Given the description of an element on the screen output the (x, y) to click on. 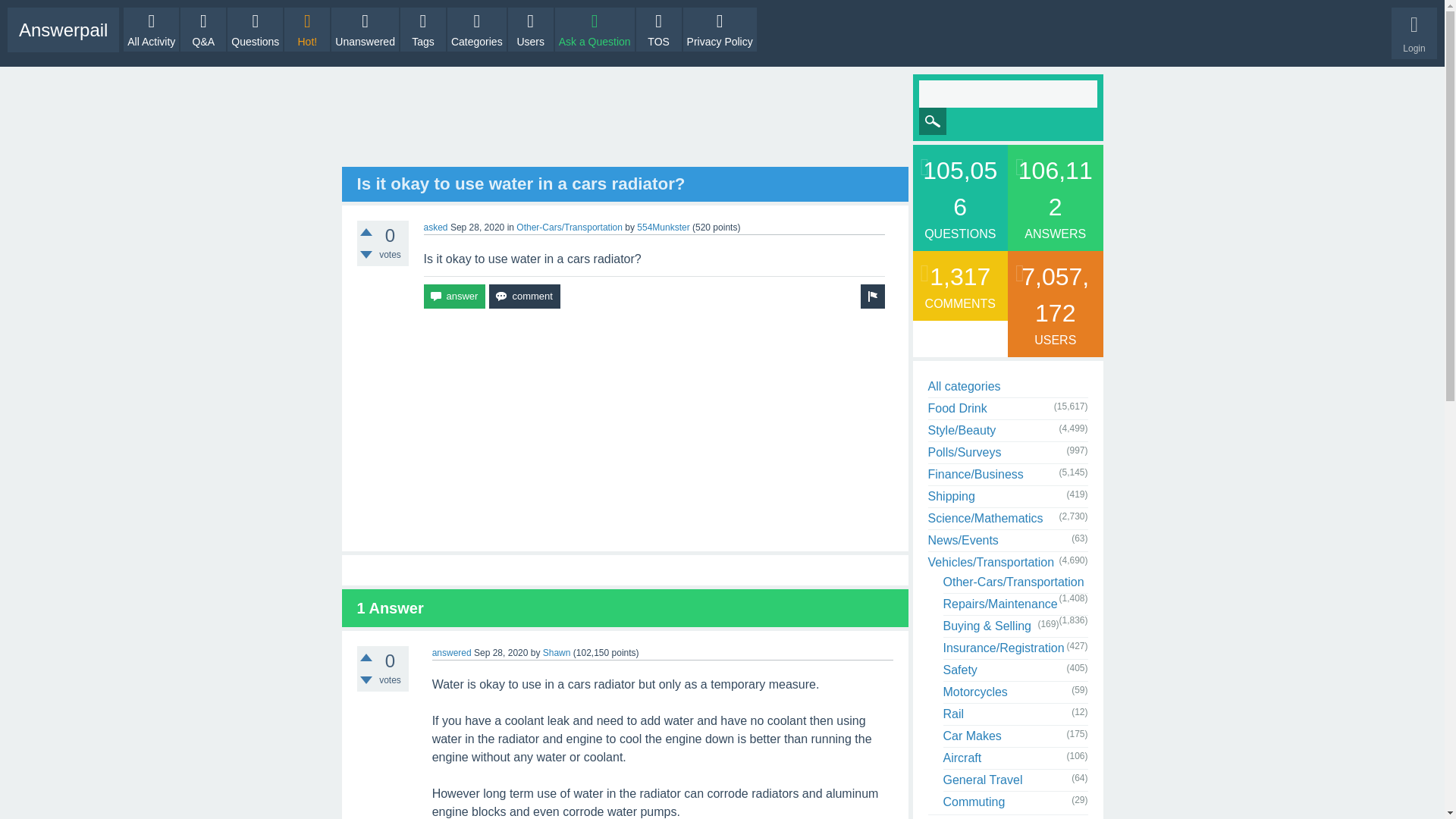
answered (451, 652)
Search (932, 121)
Advertisement (624, 429)
asked (434, 226)
Search (932, 121)
flag (872, 296)
TOS (658, 29)
Advertisement (624, 120)
answer (453, 296)
Is it okay to use water in a cars radiator? (520, 183)
